Given the description of an element on the screen output the (x, y) to click on. 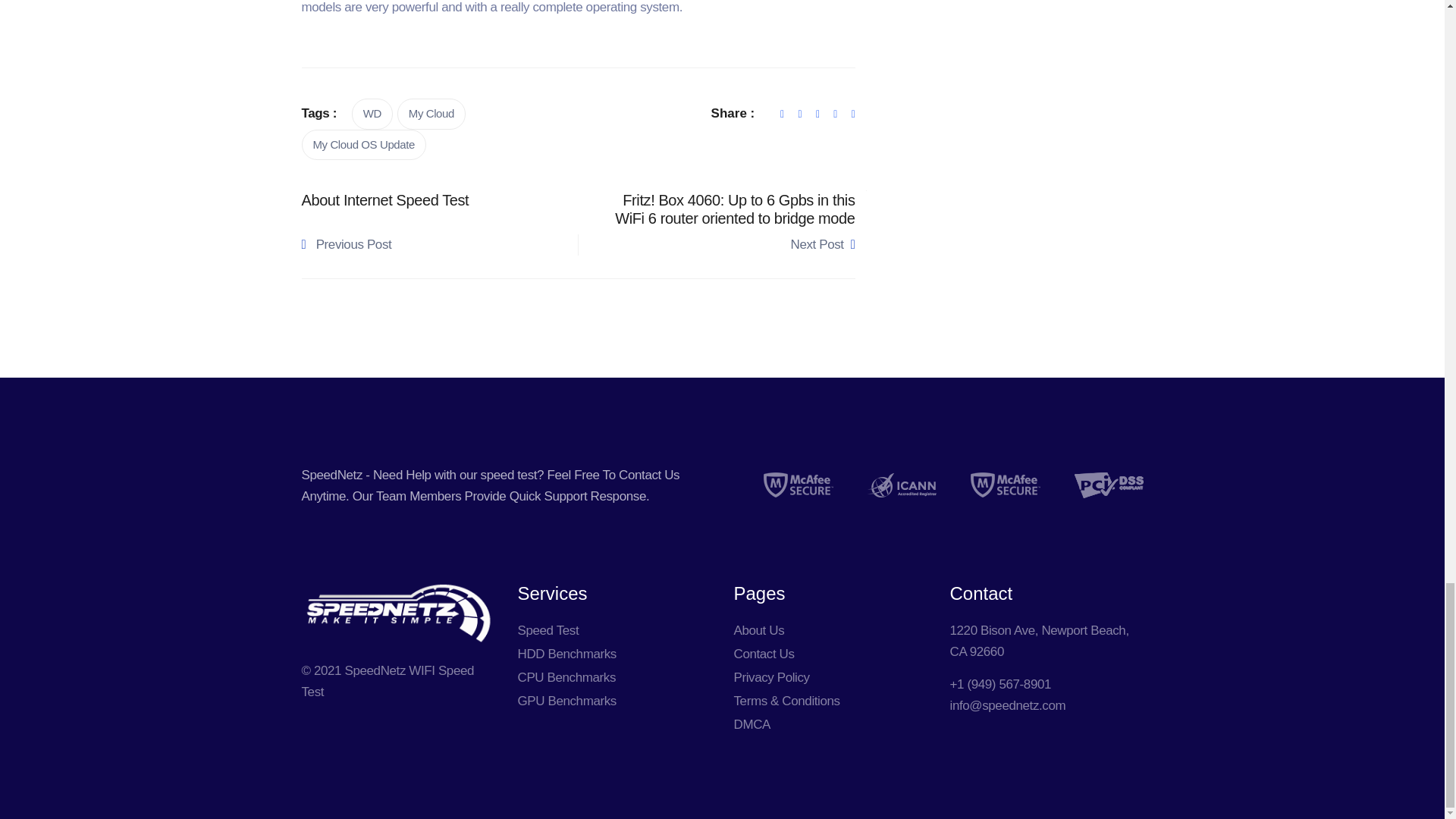
WD (372, 113)
My Cloud (431, 113)
About Internet Speed Test (434, 199)
Next Post (730, 244)
HDD Benchmarks (565, 653)
Speed Test (547, 630)
Previous Post (426, 244)
My Cloud OS Update (363, 144)
